Given the description of an element on the screen output the (x, y) to click on. 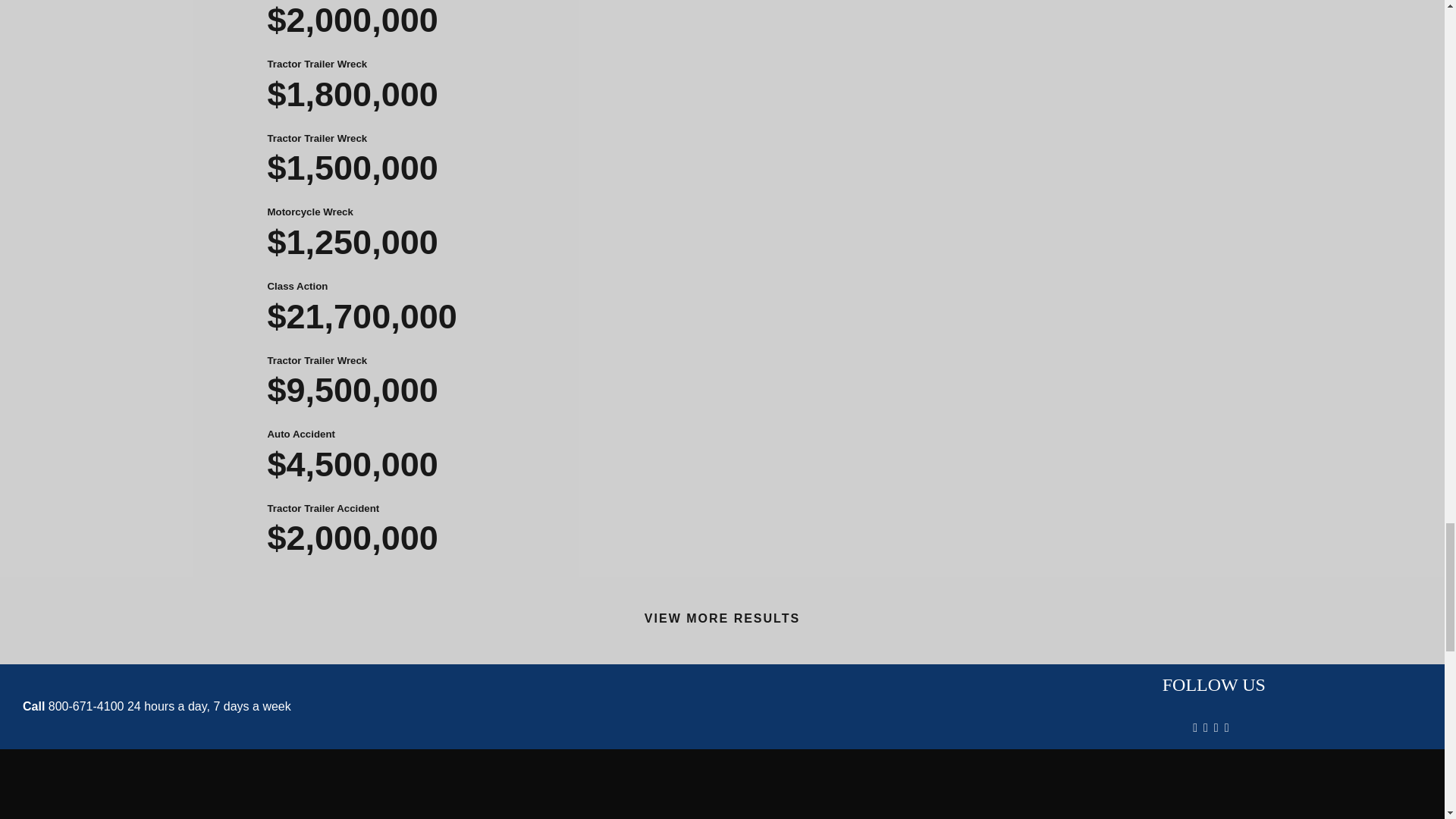
VIEW MORE RESULTS (722, 618)
